Given the description of an element on the screen output the (x, y) to click on. 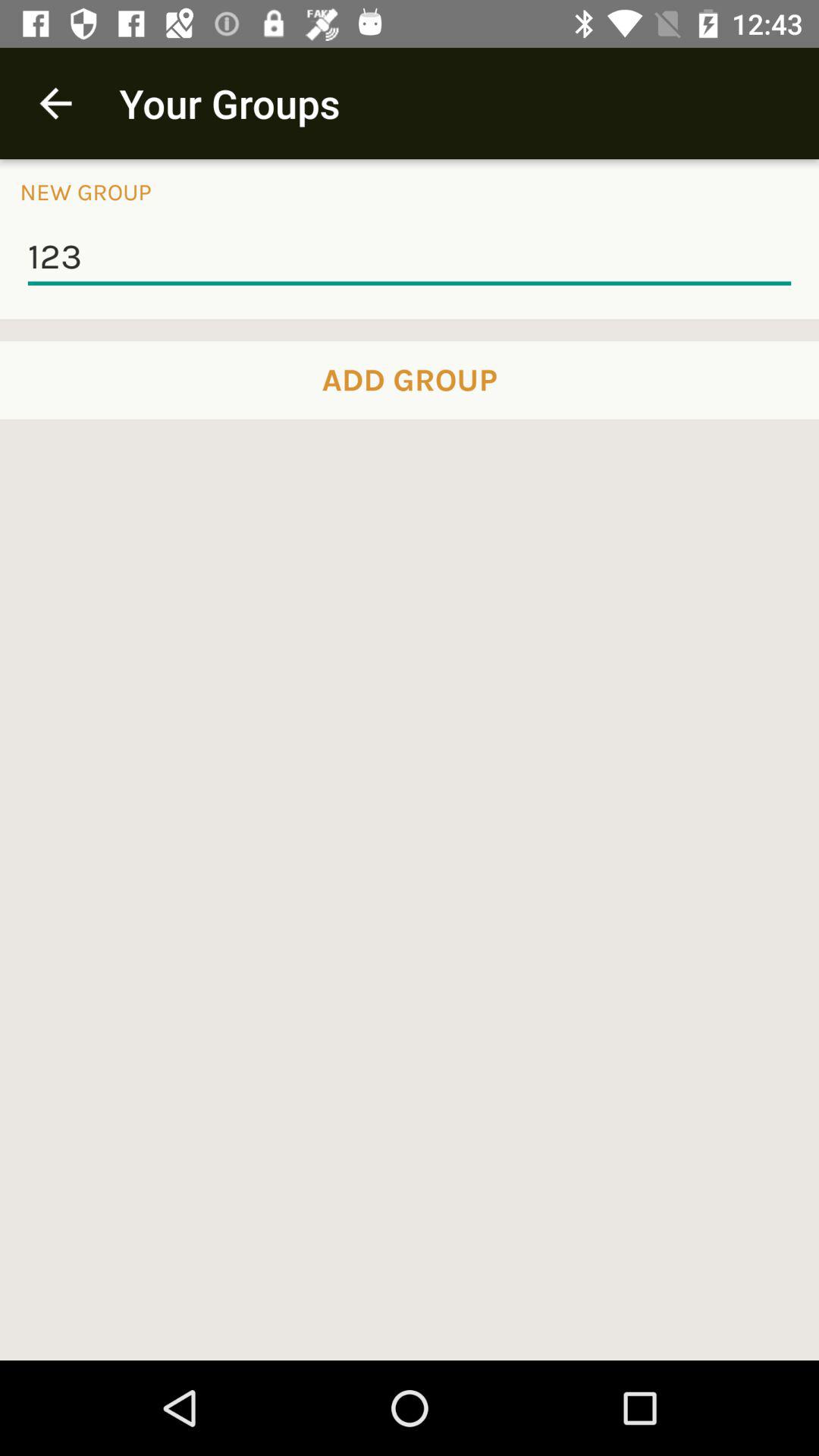
press icon next to your groups app (55, 103)
